Given the description of an element on the screen output the (x, y) to click on. 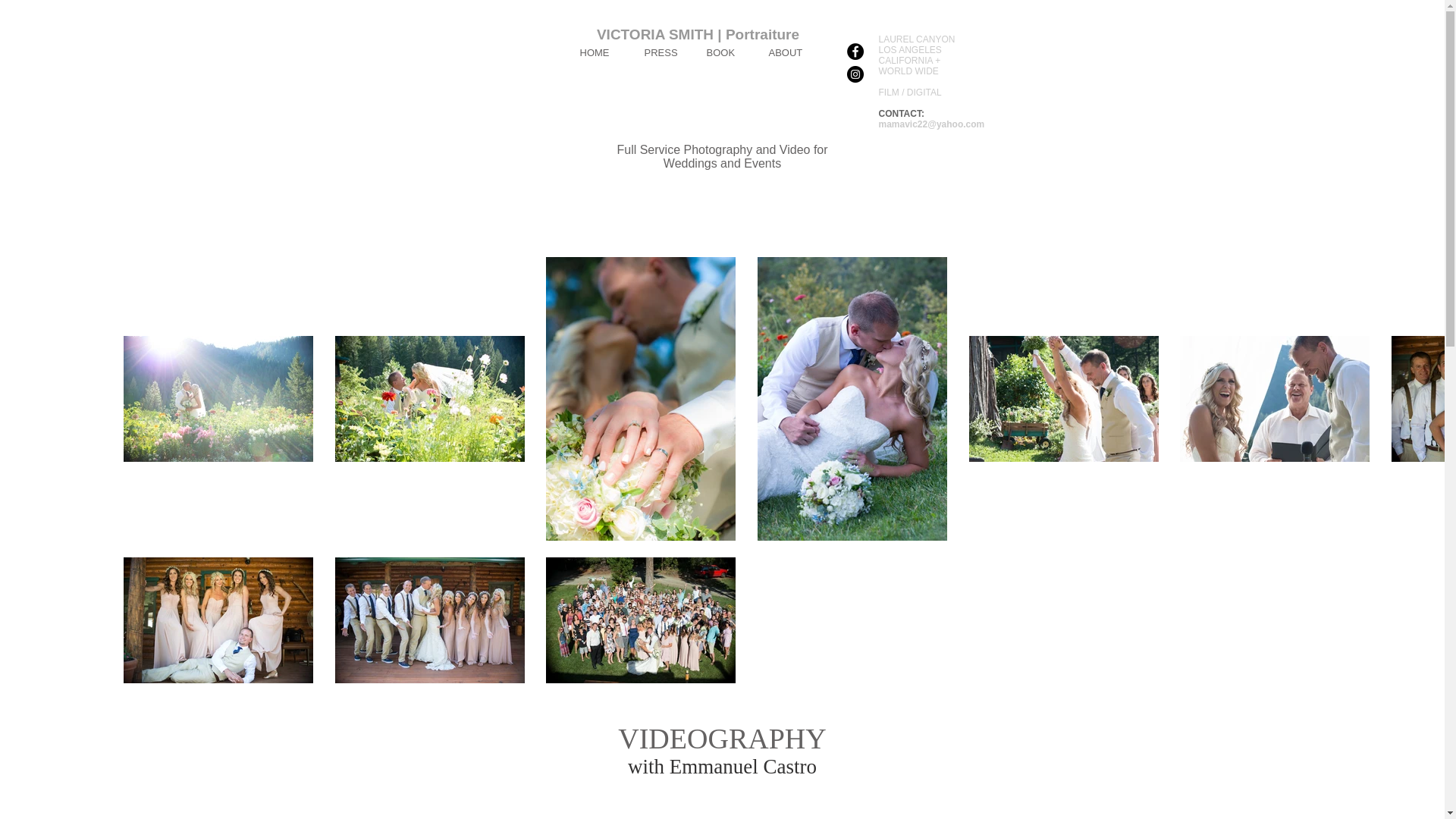
BOOK (725, 52)
PRESS (662, 52)
External Vimeo (722, 809)
HOME (601, 52)
ABOUT (790, 52)
